Given the description of an element on the screen output the (x, y) to click on. 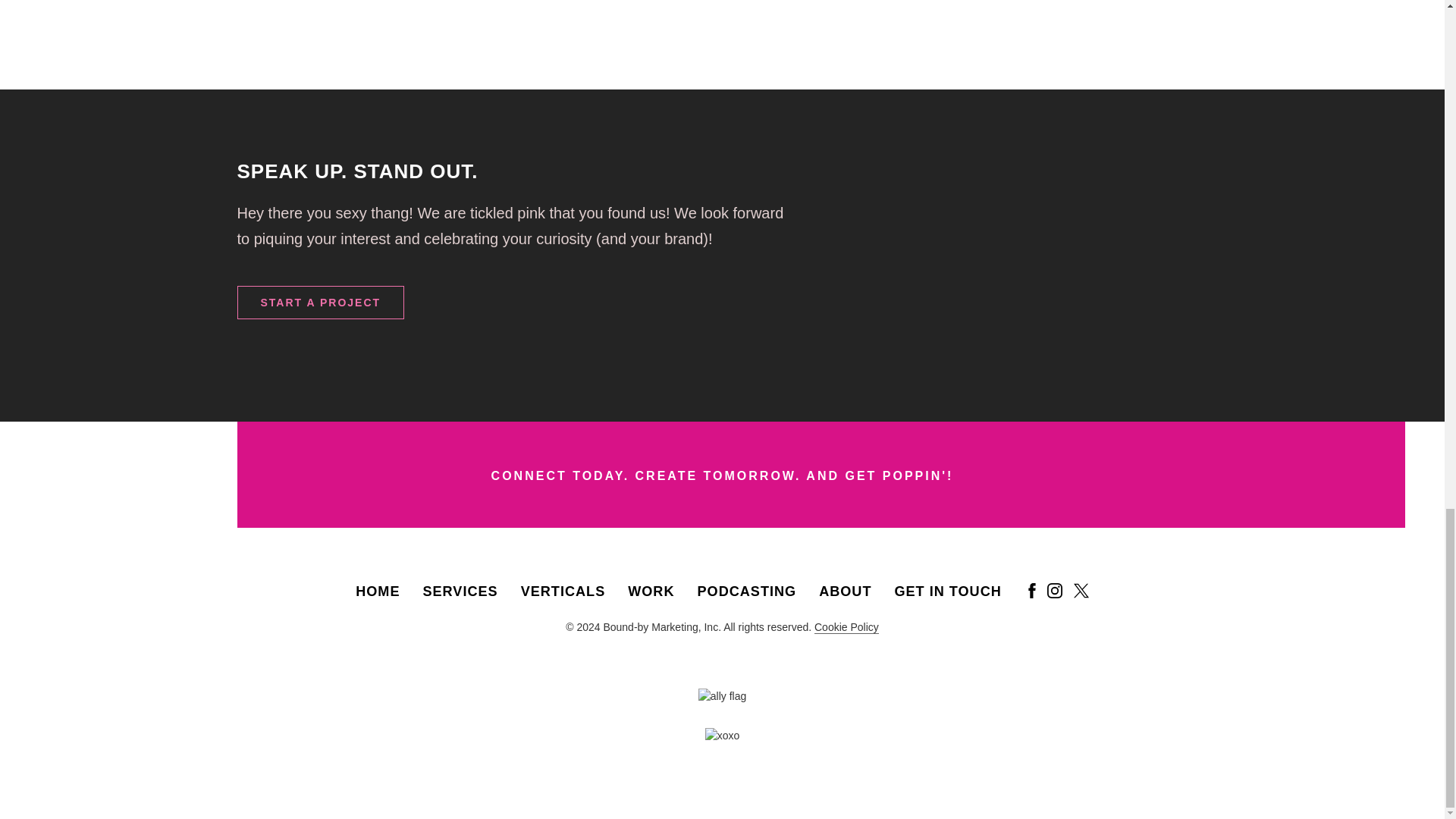
VERTICALS (563, 591)
HOME (376, 591)
GET IN TOUCH (947, 591)
ABOUT (844, 591)
SERVICES (459, 591)
PODCASTING (746, 591)
WORK (650, 591)
START A PROJECT (319, 302)
Cookie Policy (846, 626)
